Given the description of an element on the screen output the (x, y) to click on. 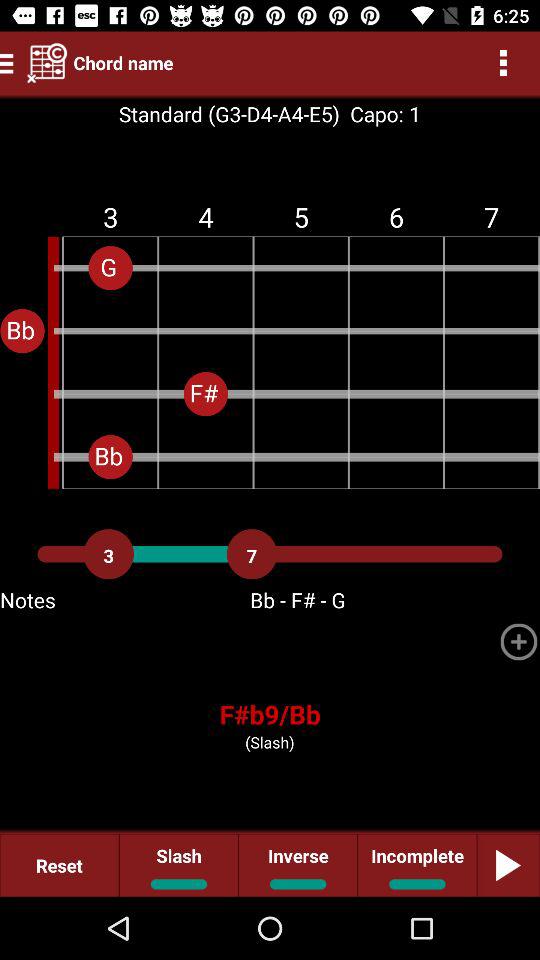
tap the standard g3 d4 icon (228, 113)
